Given the description of an element on the screen output the (x, y) to click on. 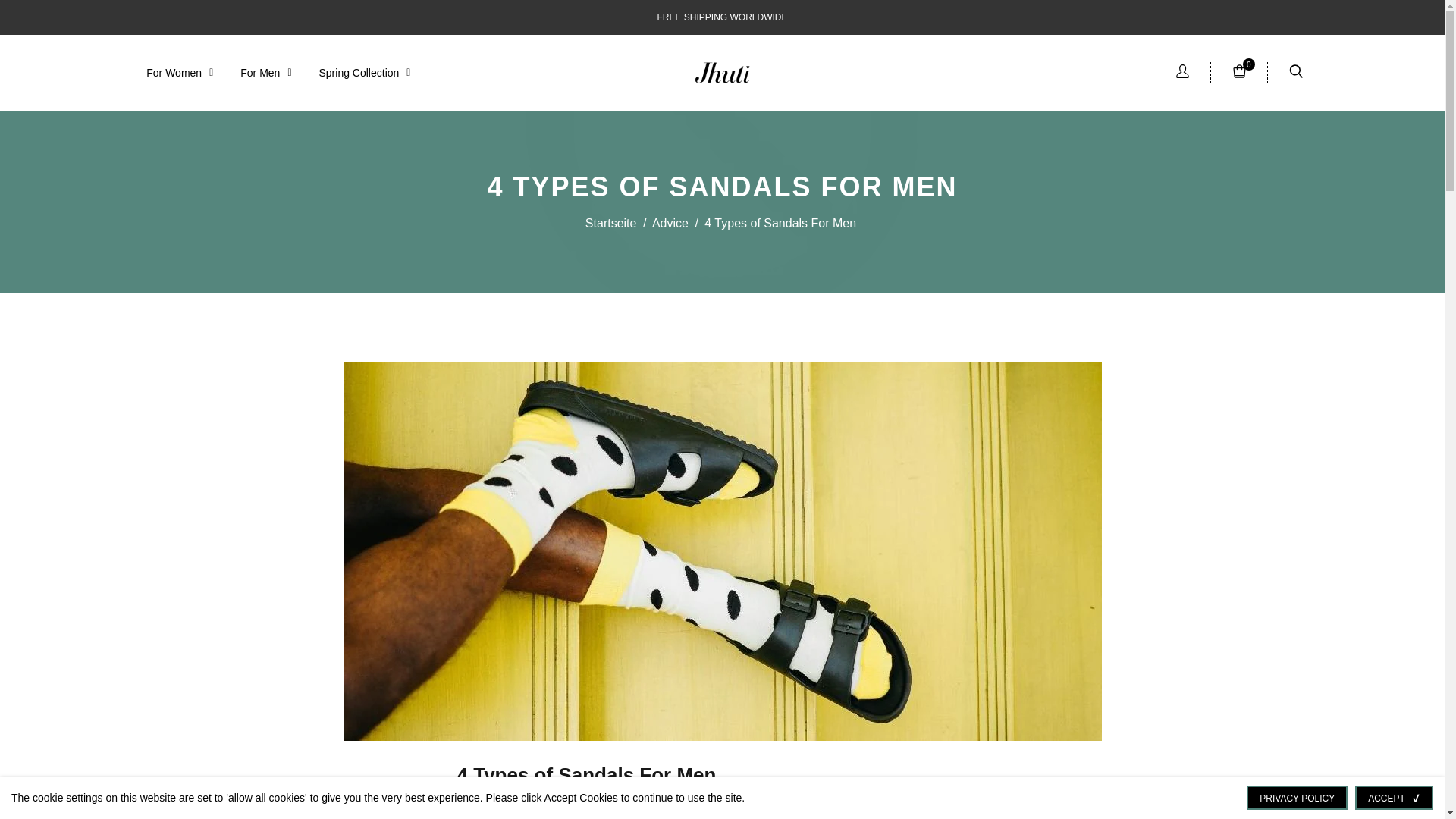
Shopping bag , ui, ecommerce, marketplace, (1239, 72)
For Women (179, 72)
FREE SHIPPING WORLDWIDE (721, 17)
